Given the description of an element on the screen output the (x, y) to click on. 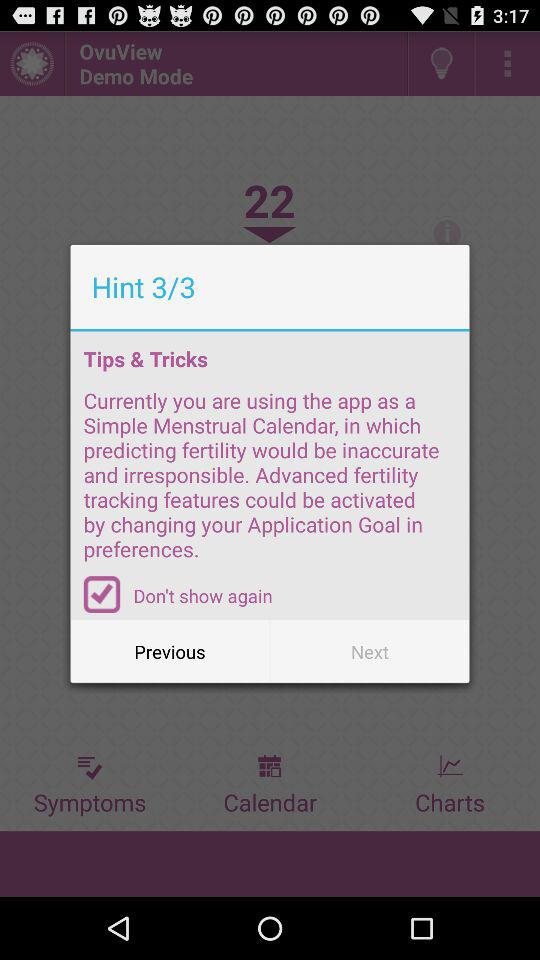
flip until currently you are icon (269, 481)
